Given the description of an element on the screen output the (x, y) to click on. 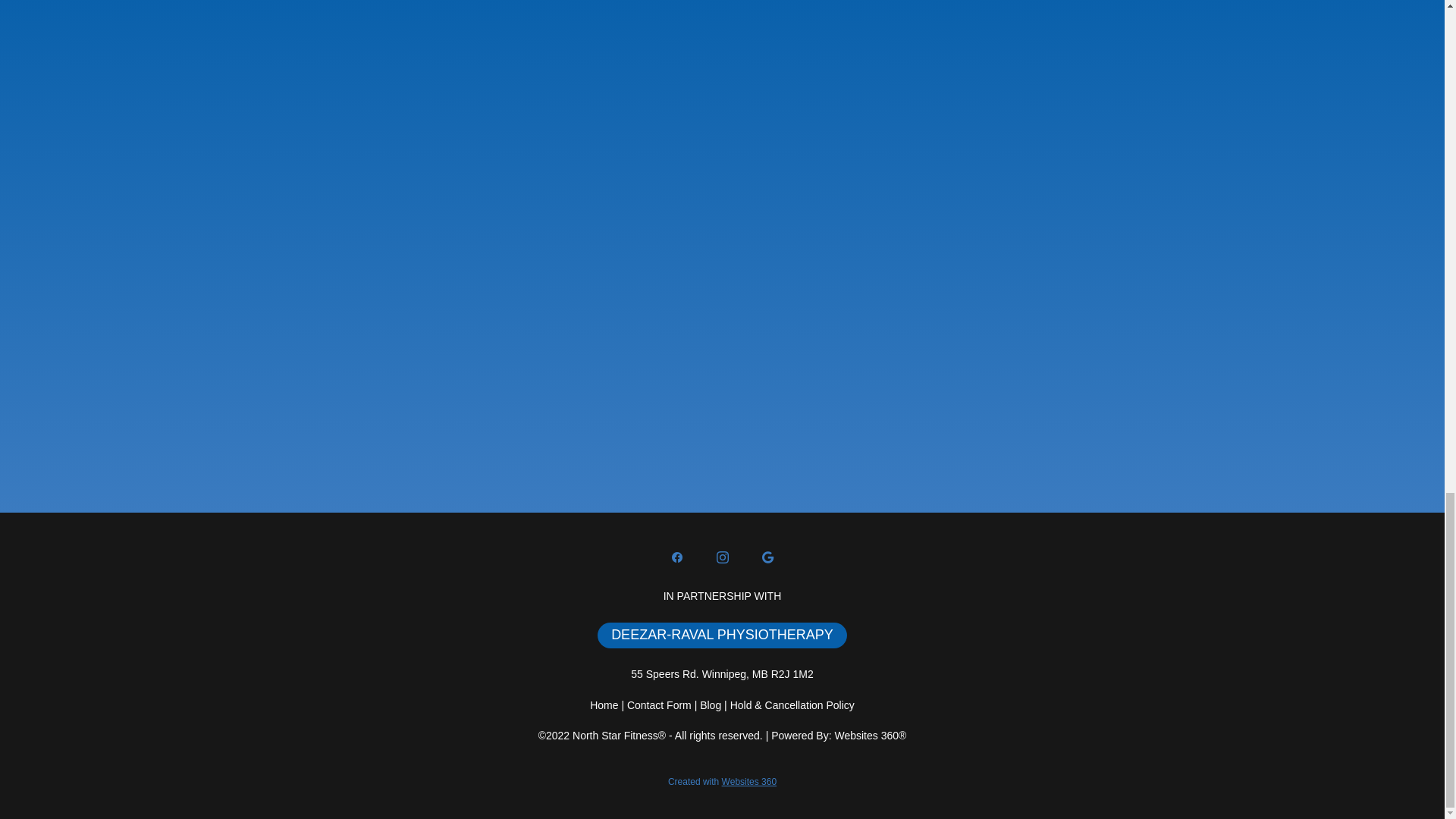
Contact Form (660, 705)
Blog (710, 705)
Home (605, 705)
DEEZAR-RAVAL PHYSIOTHERAPY (721, 635)
Created with Websites 360 (722, 781)
55 Speers Rd. Winnipeg, MB R2J 1M2 (721, 674)
